Given the description of an element on the screen output the (x, y) to click on. 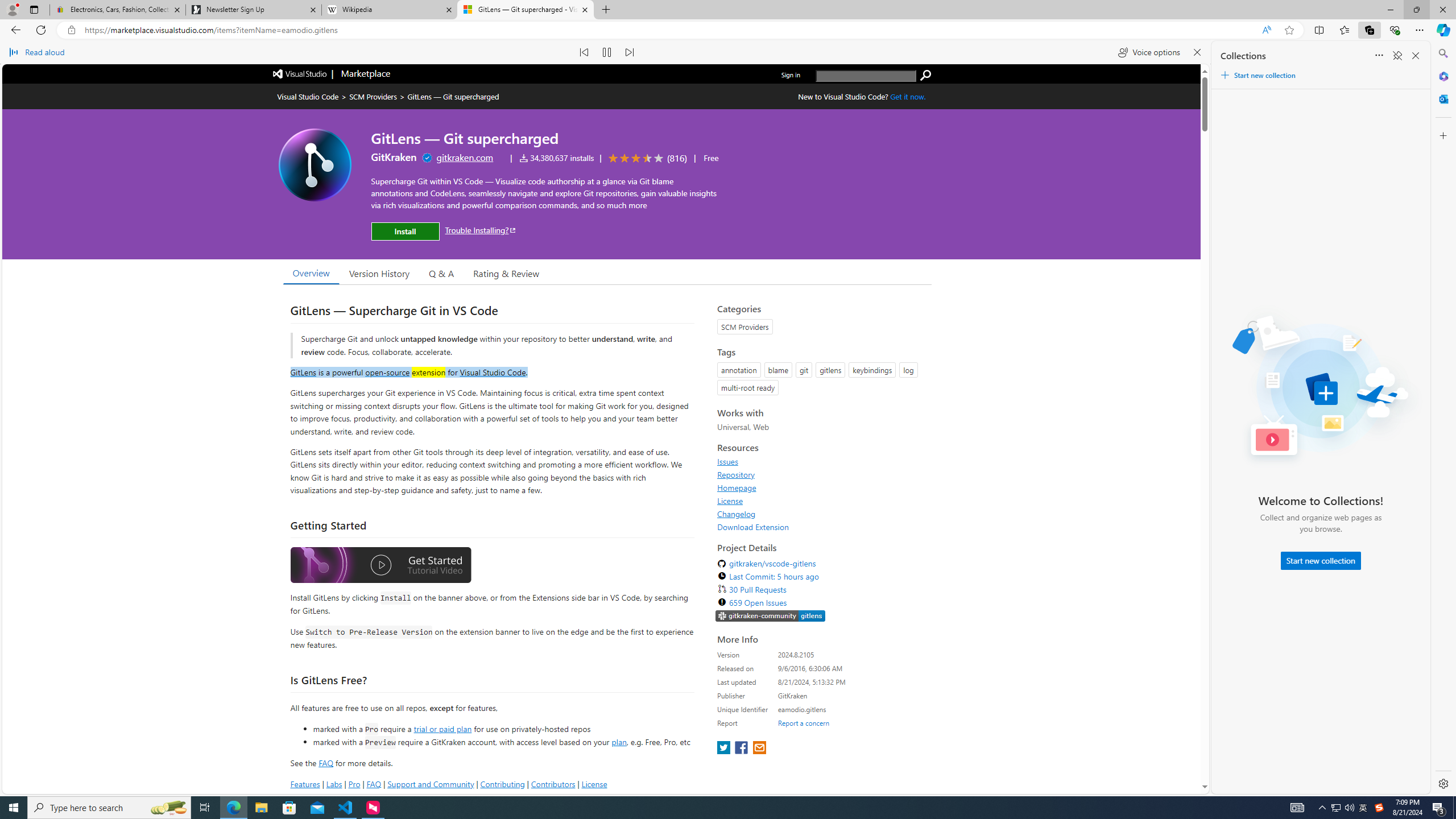
open-source (387, 371)
Contributors (552, 783)
